Given the description of an element on the screen output the (x, y) to click on. 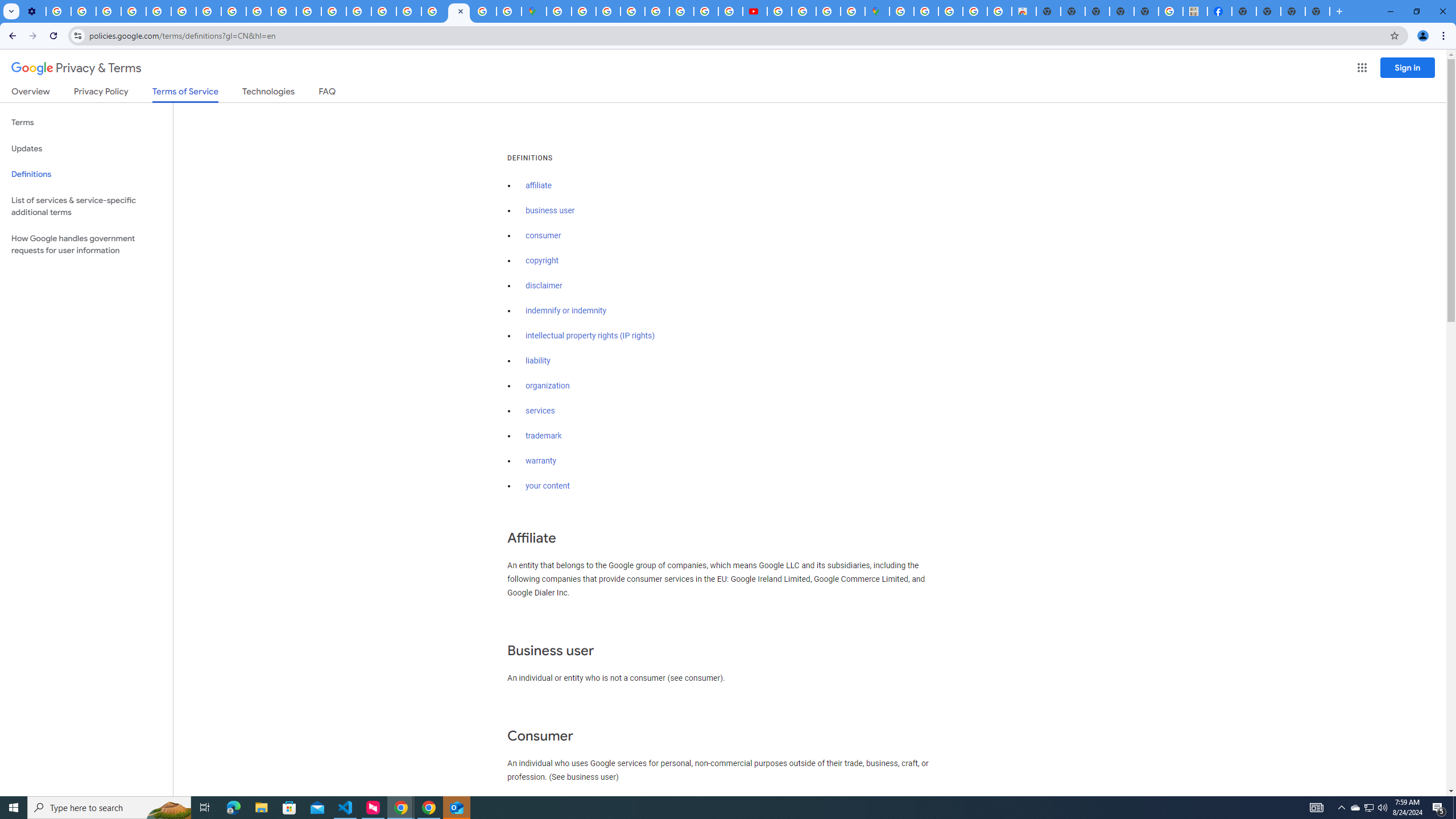
services (539, 411)
Privacy Help Center - Policies Help (680, 11)
Learn how to find your photos - Google Photos Help (83, 11)
https://scholar.google.com/ (308, 11)
MILEY CYRUS. (1194, 11)
How Google handles government requests for user information (86, 244)
consumer (543, 235)
How Chrome protects your passwords - Google Chrome Help (778, 11)
Privacy Checkup (258, 11)
